Given the description of an element on the screen output the (x, y) to click on. 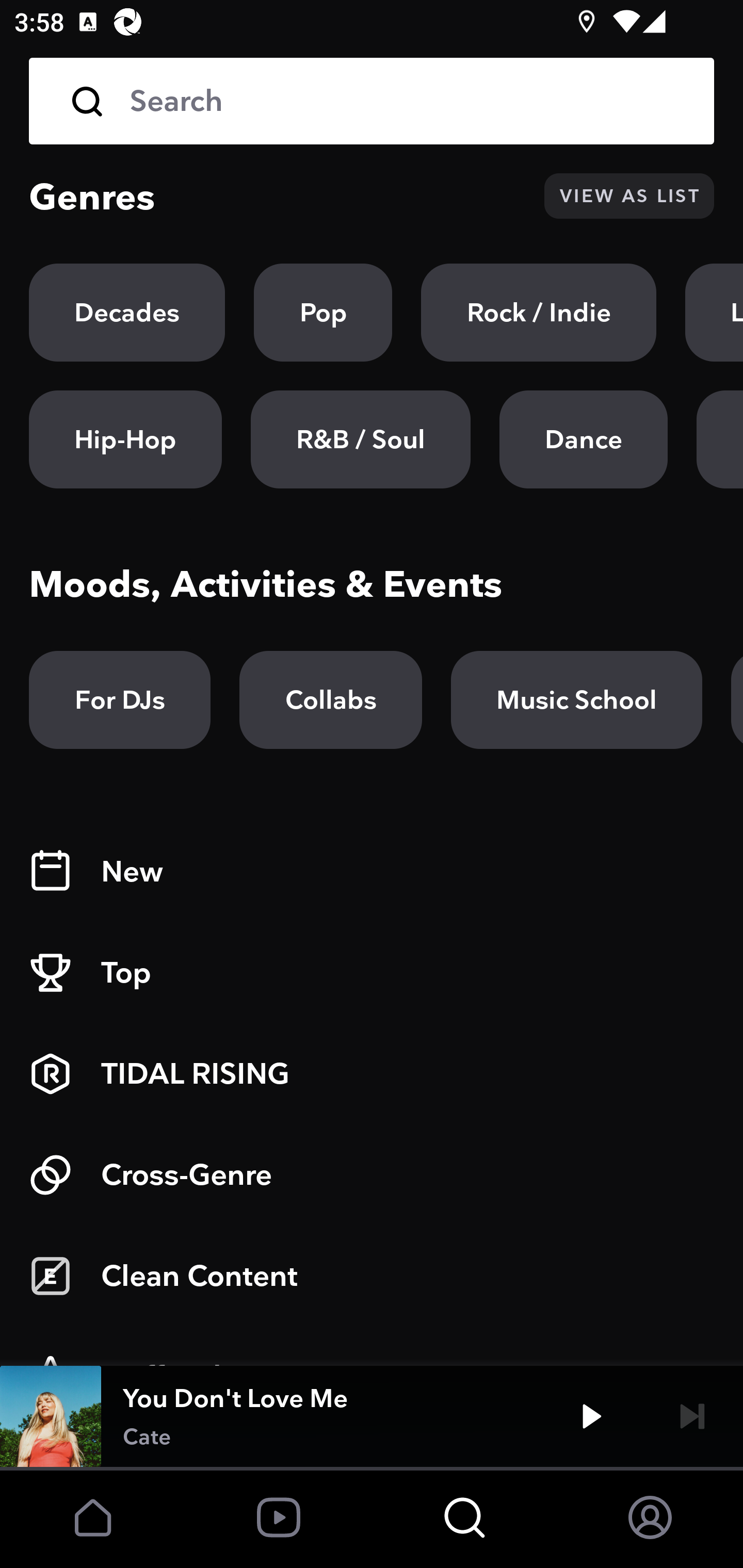
Search (371, 101)
Search (407, 100)
VIEW AS LIST (629, 195)
Decades (126, 312)
Pop (323, 312)
Rock / Indie (538, 312)
Hip-Hop (125, 439)
R&B / Soul (360, 439)
Dance (583, 439)
For DJs (119, 699)
Collabs (330, 699)
Music School (576, 699)
New (371, 871)
Top (371, 972)
TIDAL RISING (371, 1073)
Cross-Genre (371, 1175)
Clean Content (371, 1276)
You Don't Love Me Cate Play (371, 1416)
Play (590, 1416)
